Given the description of an element on the screen output the (x, y) to click on. 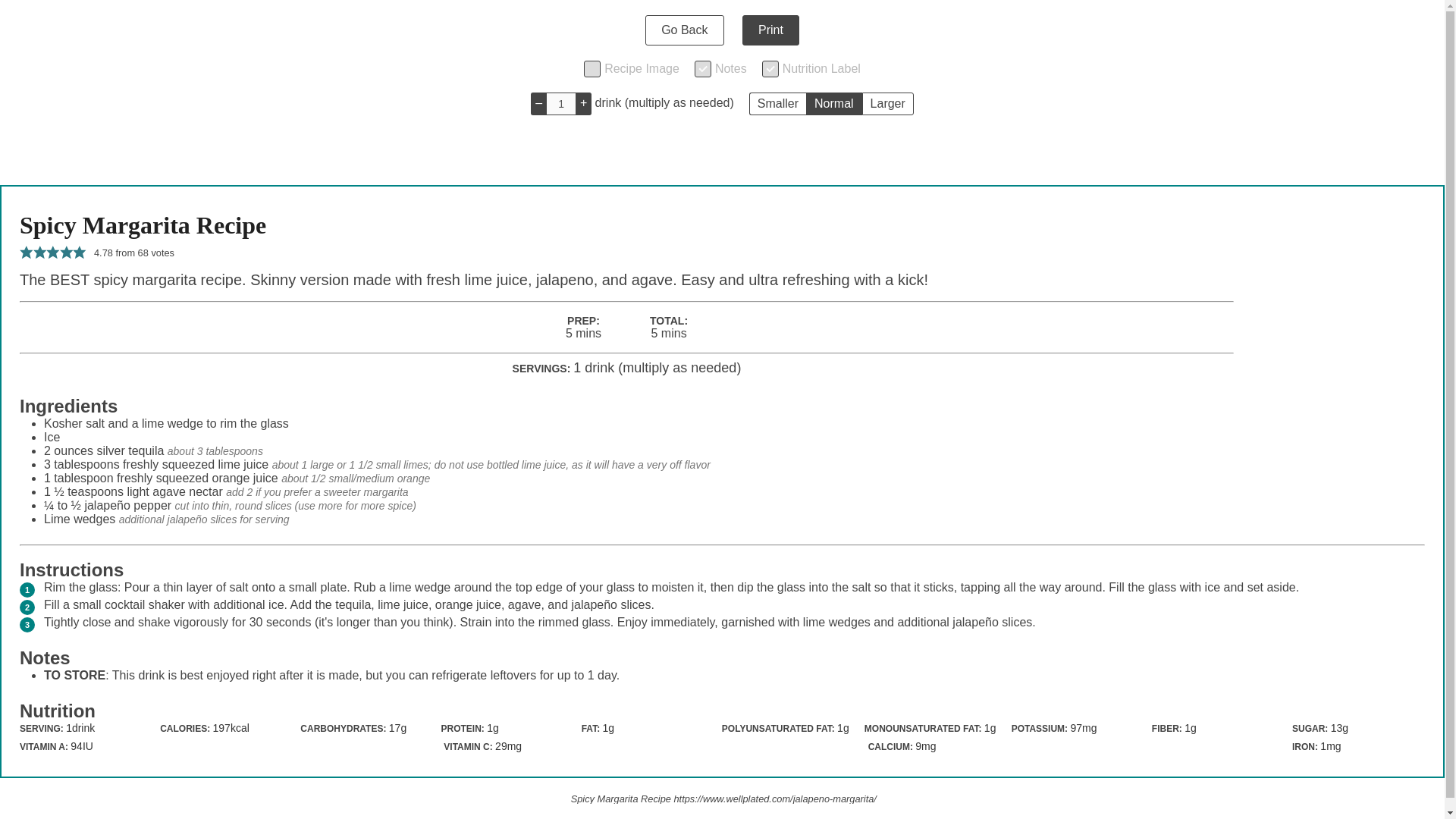
Normal (833, 103)
Smaller (777, 103)
Print (770, 30)
1 (561, 103)
Larger (887, 103)
Go Back (684, 30)
